Given the description of an element on the screen output the (x, y) to click on. 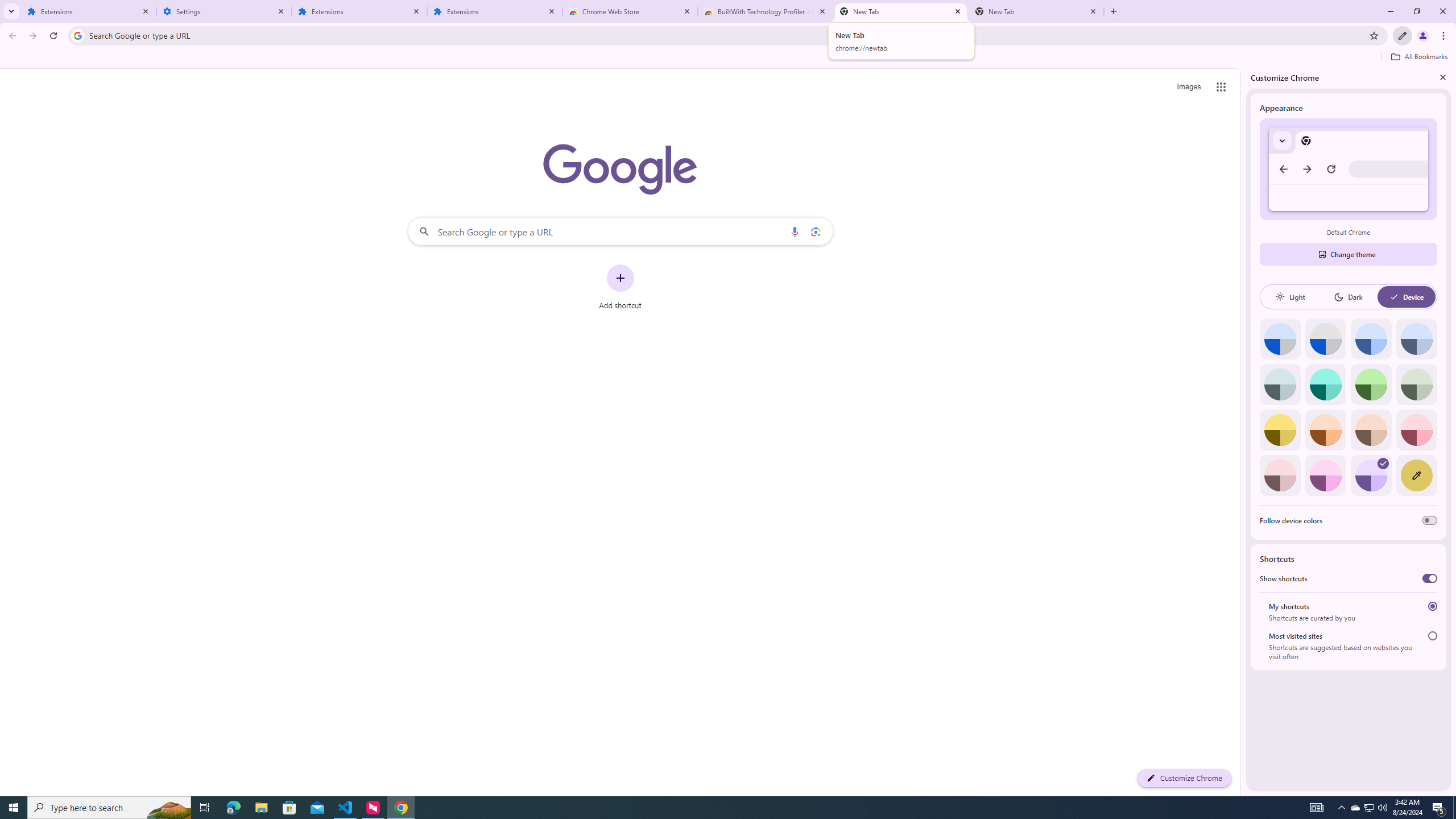
Green (1371, 383)
Viridian (1416, 383)
Light (1289, 296)
Most visited sites (1432, 635)
Settings (224, 11)
Custom color (1416, 475)
Grey default color (1325, 338)
Extensions (494, 11)
Show shortcuts (1429, 578)
Search Google or type a URL (619, 230)
Change theme (1348, 254)
AutomationID: baseSvg (1394, 296)
